Given the description of an element on the screen output the (x, y) to click on. 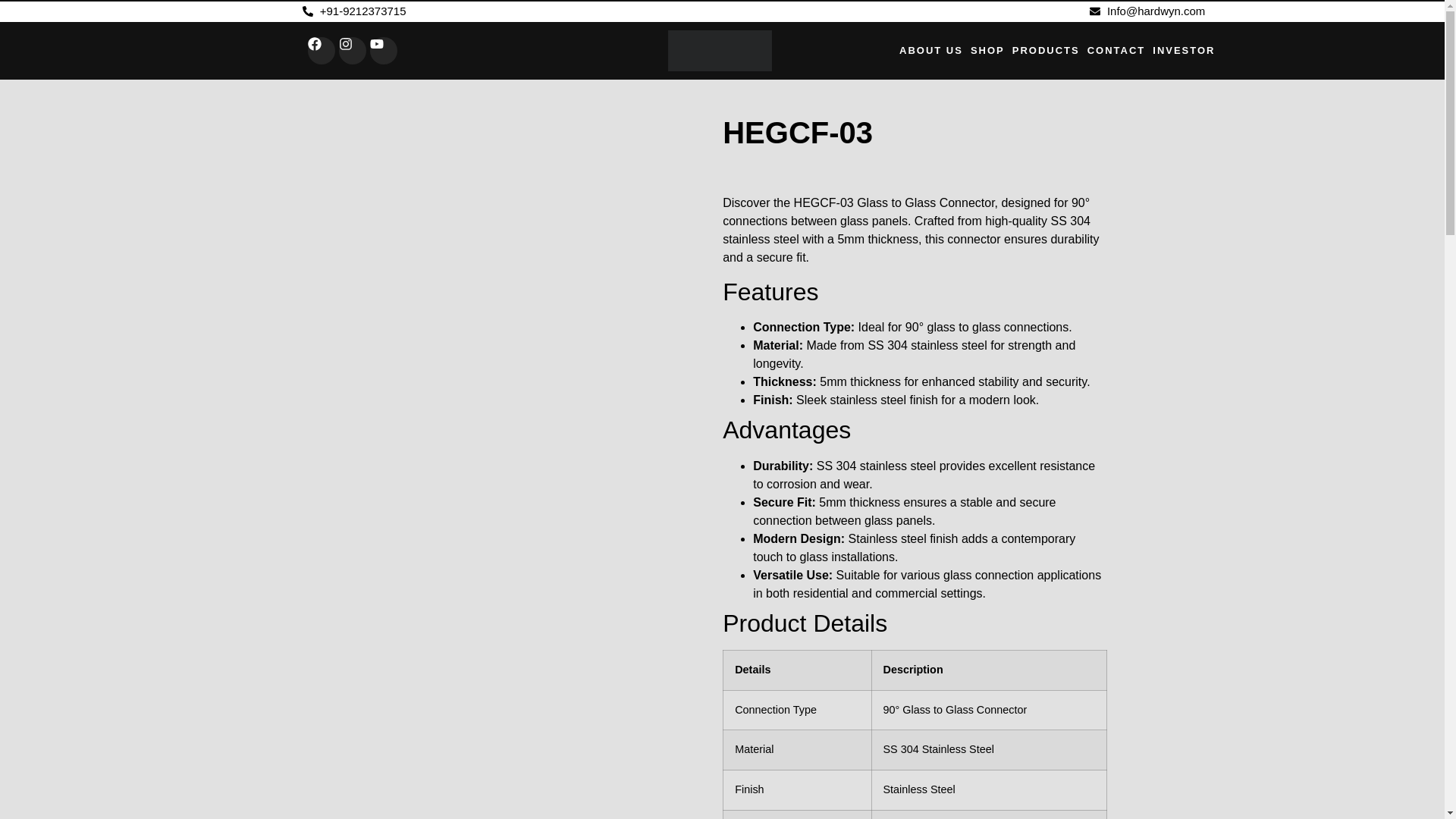
ABOUT US (930, 50)
INVESTOR (1183, 50)
CONTACT (1116, 50)
SHOP (987, 50)
PRODUCTS (1045, 50)
